Given the description of an element on the screen output the (x, y) to click on. 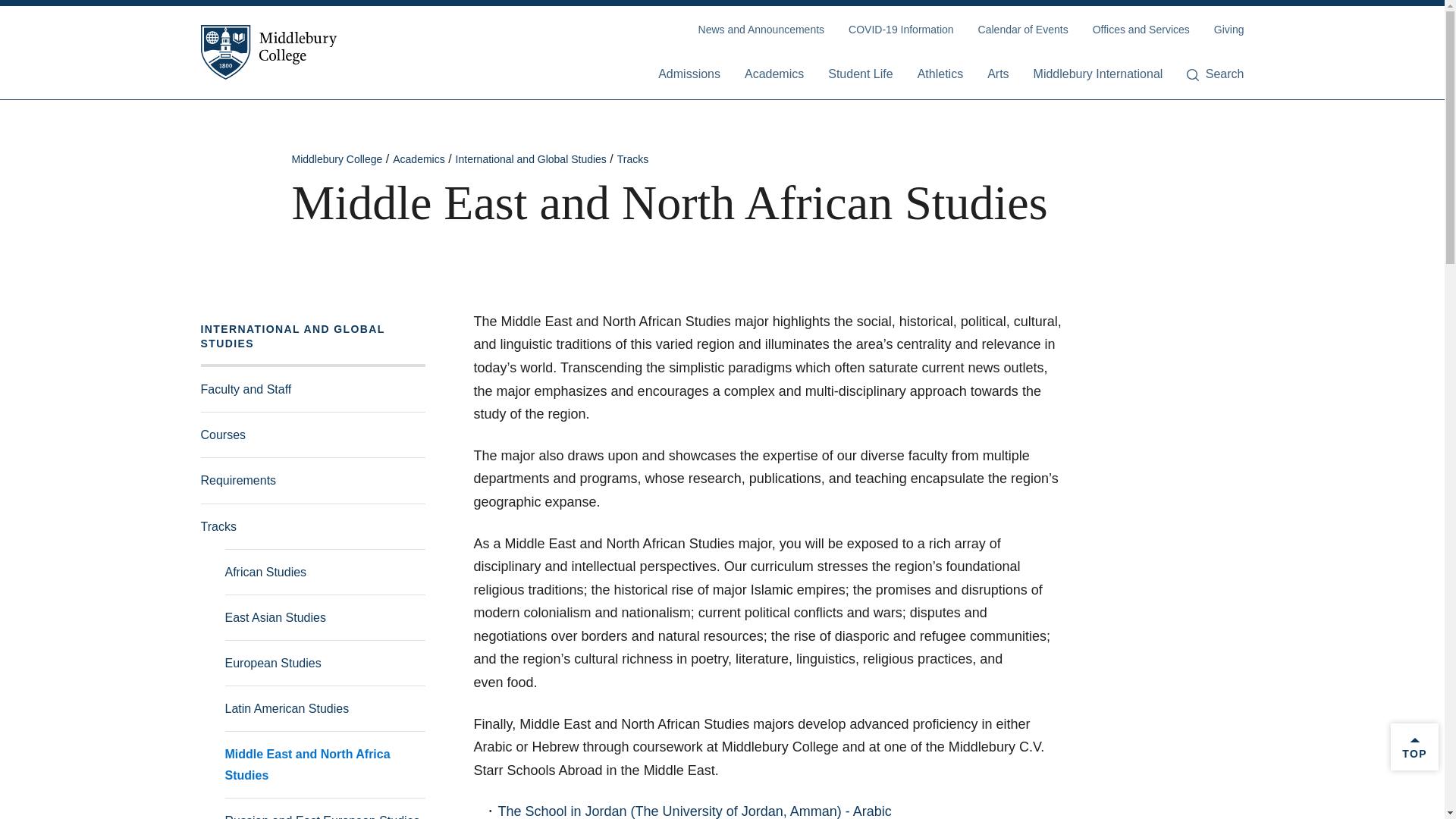
Middlebury College (268, 51)
Admissions (689, 75)
Academics (773, 75)
Student Life (860, 75)
Athletics (939, 75)
